Given the description of an element on the screen output the (x, y) to click on. 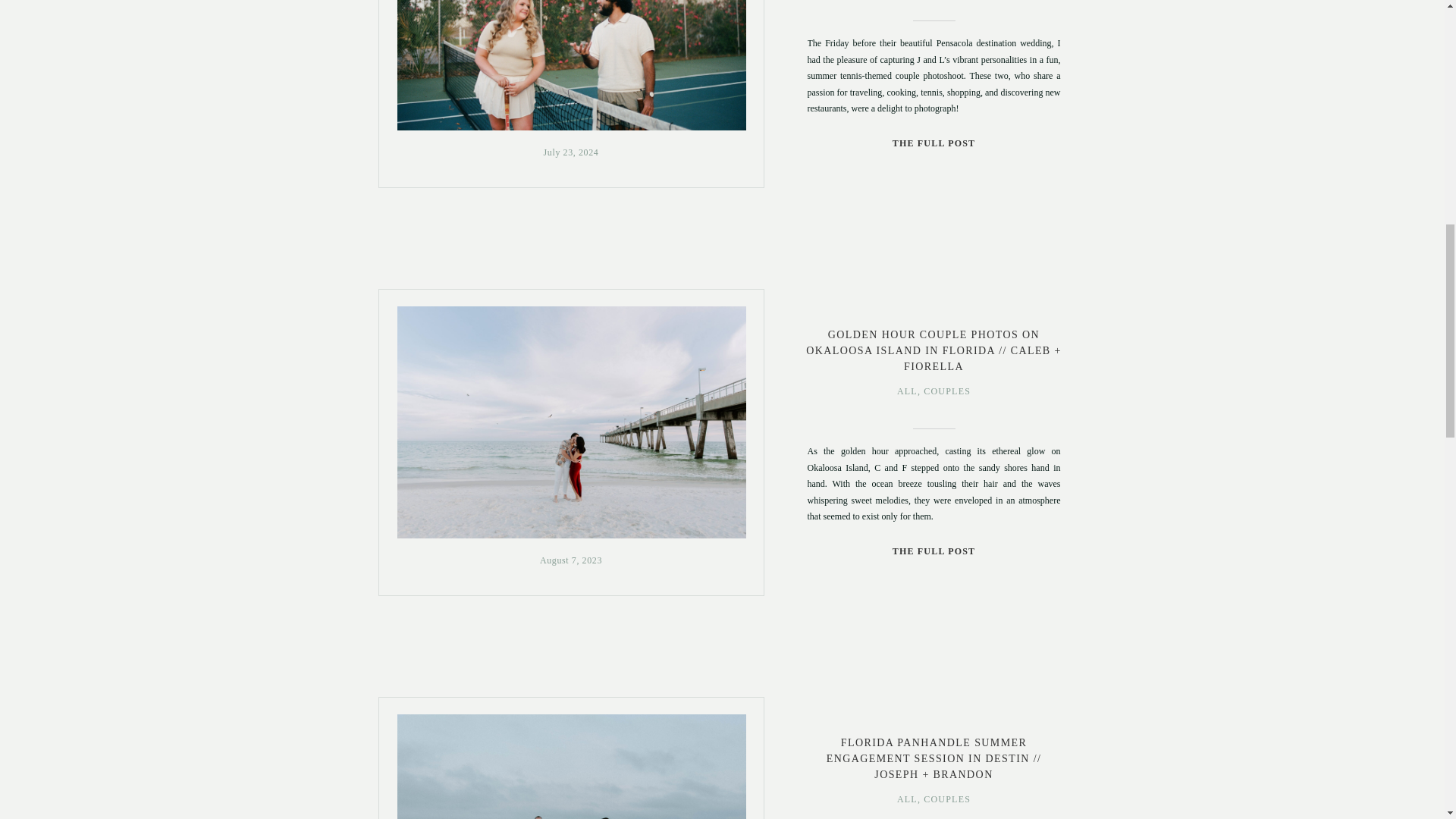
ALL (906, 390)
ALL (906, 798)
COUPLES (947, 390)
THE FULL POST (933, 143)
THE FULL POST (933, 551)
COUPLES (947, 798)
